Given the description of an element on the screen output the (x, y) to click on. 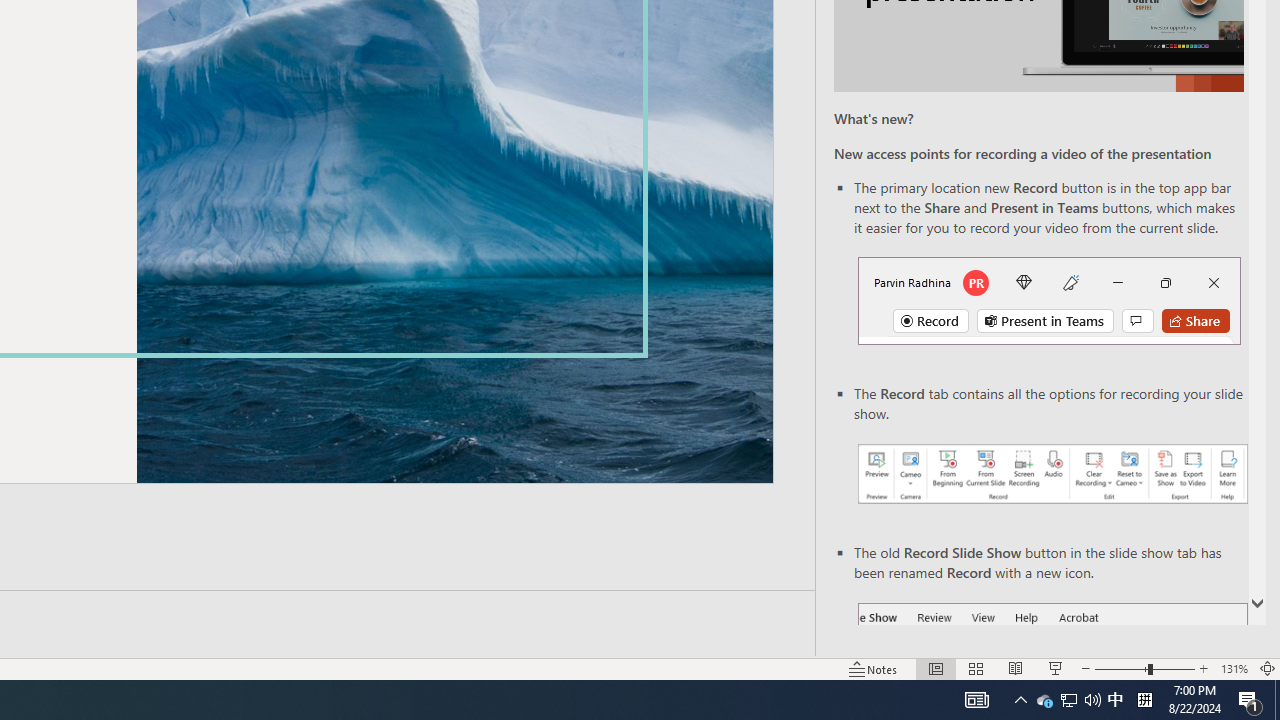
Record your presentations screenshot one (1052, 473)
Zoom 131% (1234, 668)
Record button in top bar (1049, 300)
